Given the description of an element on the screen output the (x, y) to click on. 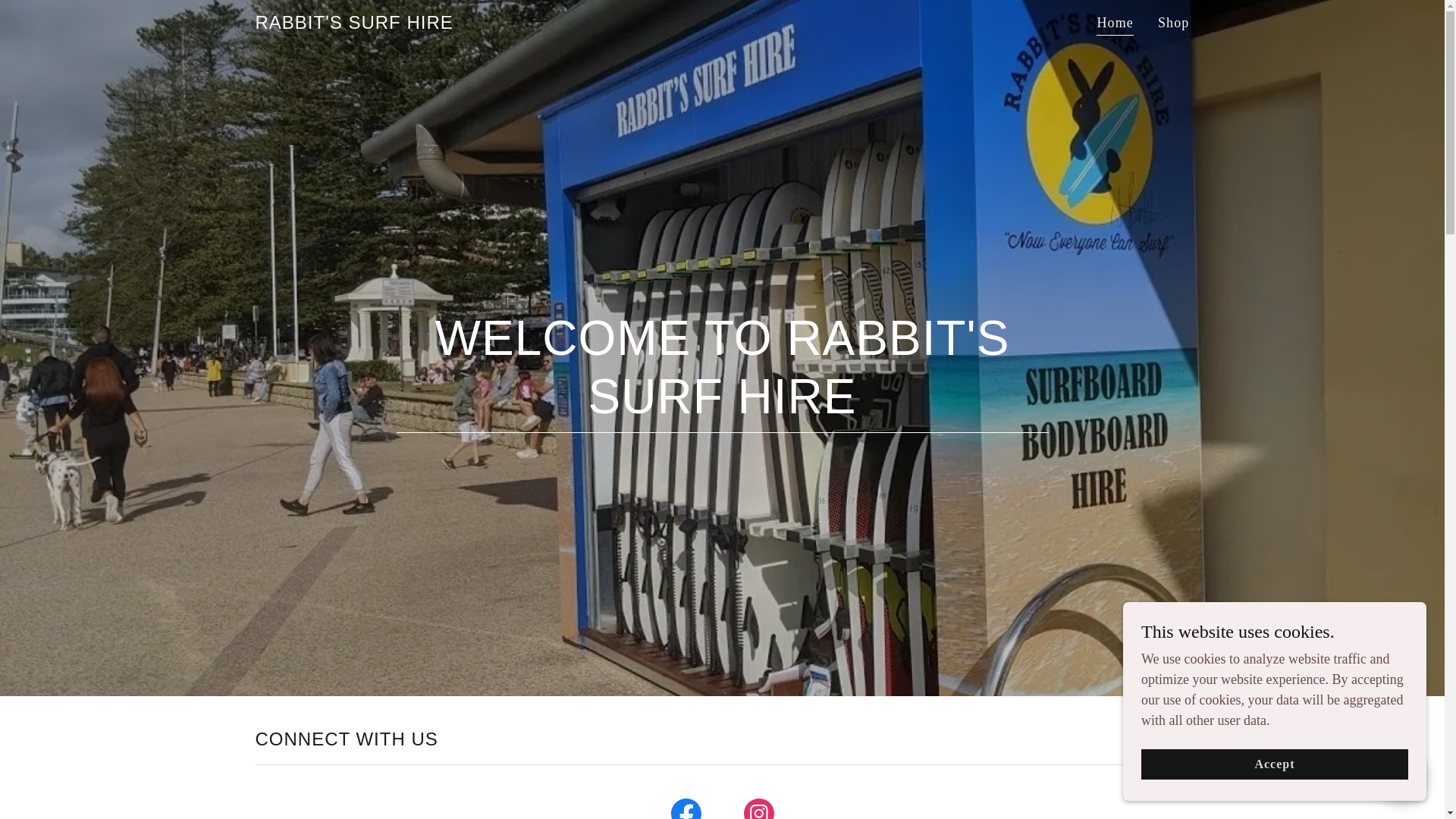
RABBIT'S SURF HIRE (353, 23)
Shop (1173, 22)
Rabbit's Surf Hire (353, 23)
Home (1115, 24)
Accept (1274, 764)
